Given the description of an element on the screen output the (x, y) to click on. 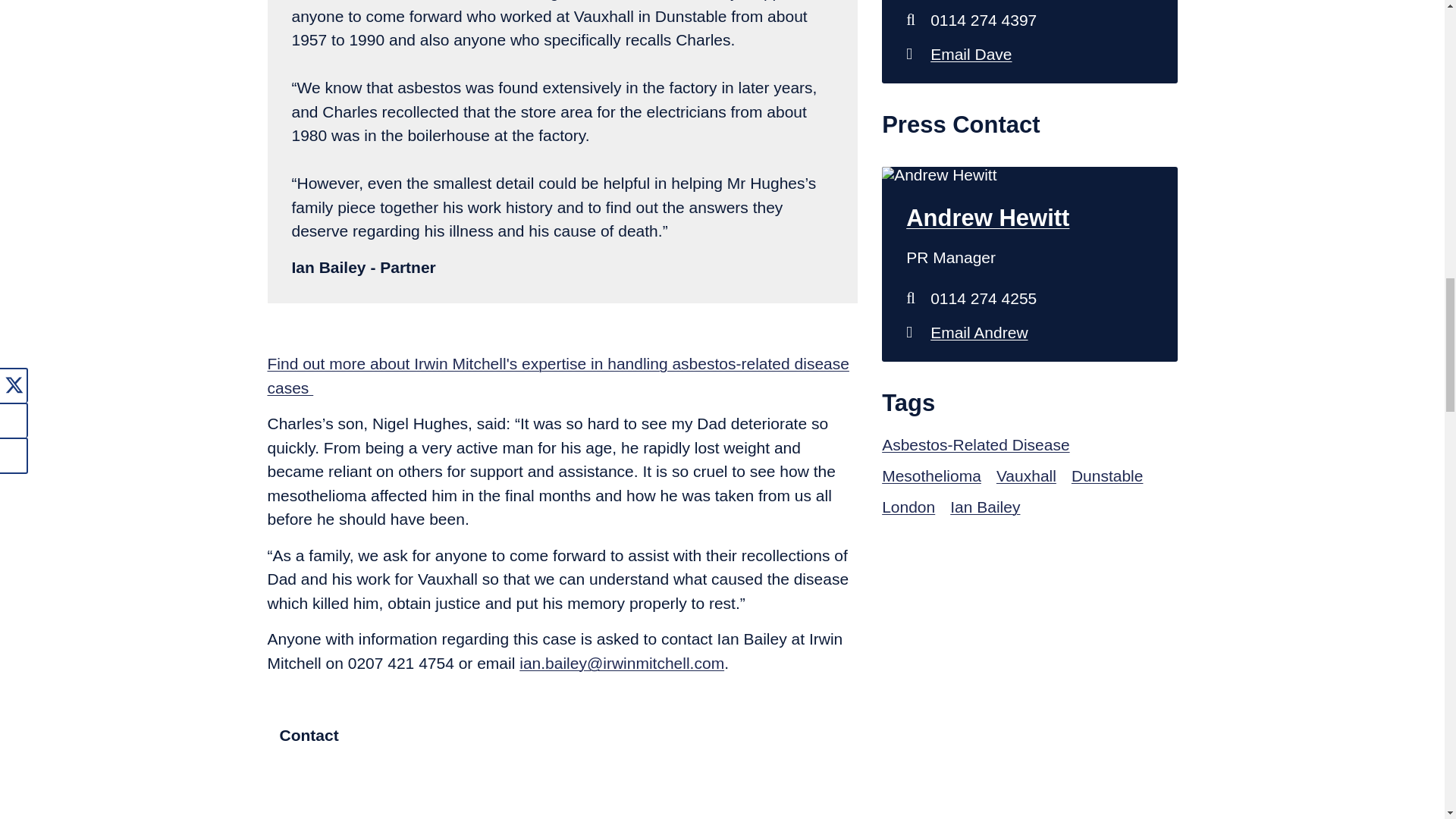
Contact Dave Grimshaw (1029, 53)
View Profile for Andrew Hewitt (1029, 218)
Andrew Hewitt (1029, 332)
